Given the description of an element on the screen output the (x, y) to click on. 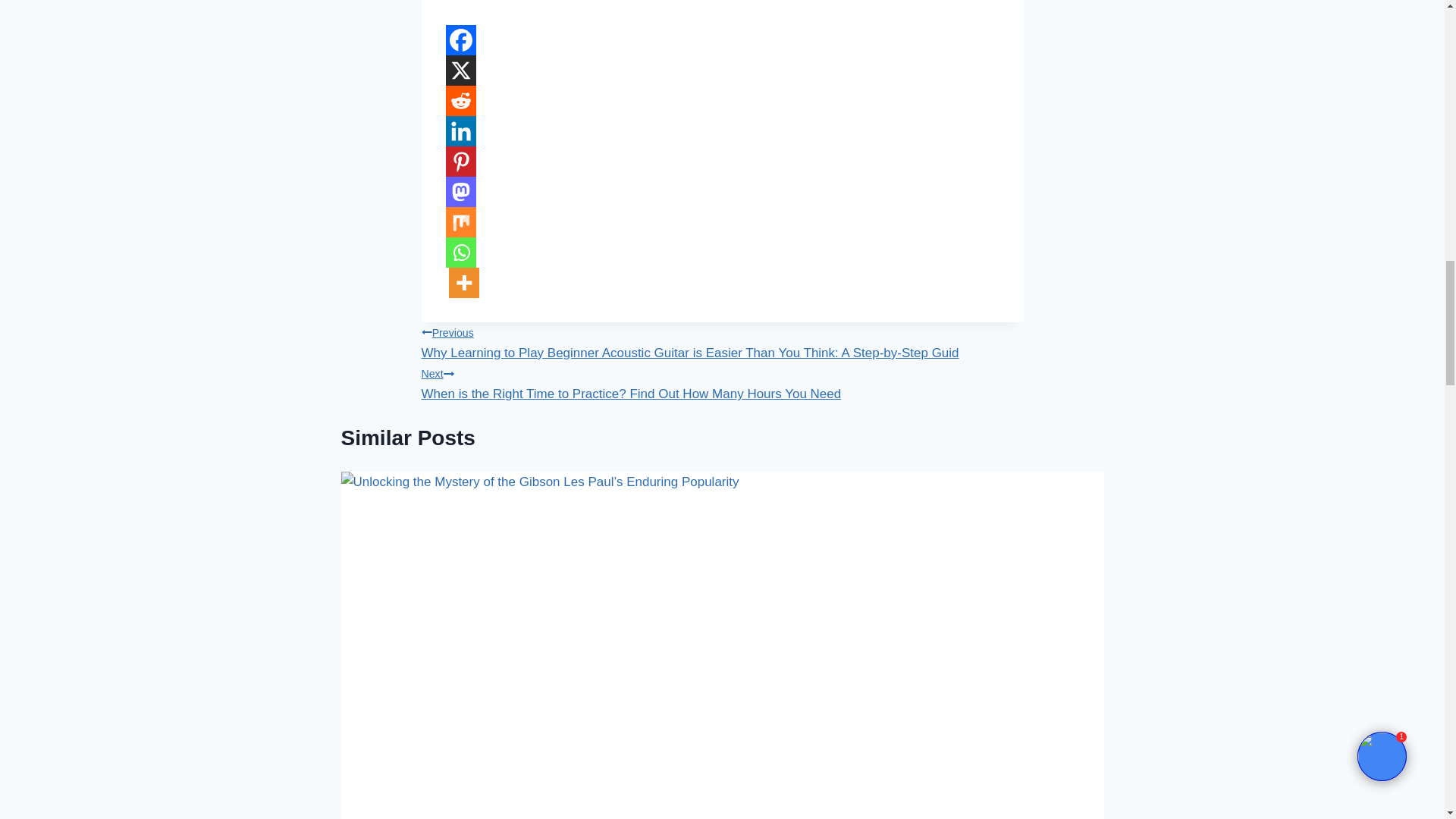
Facebook (460, 40)
X (460, 70)
Pinterest (460, 161)
Reddit (460, 100)
Linkedin (460, 131)
